Given the description of an element on the screen output the (x, y) to click on. 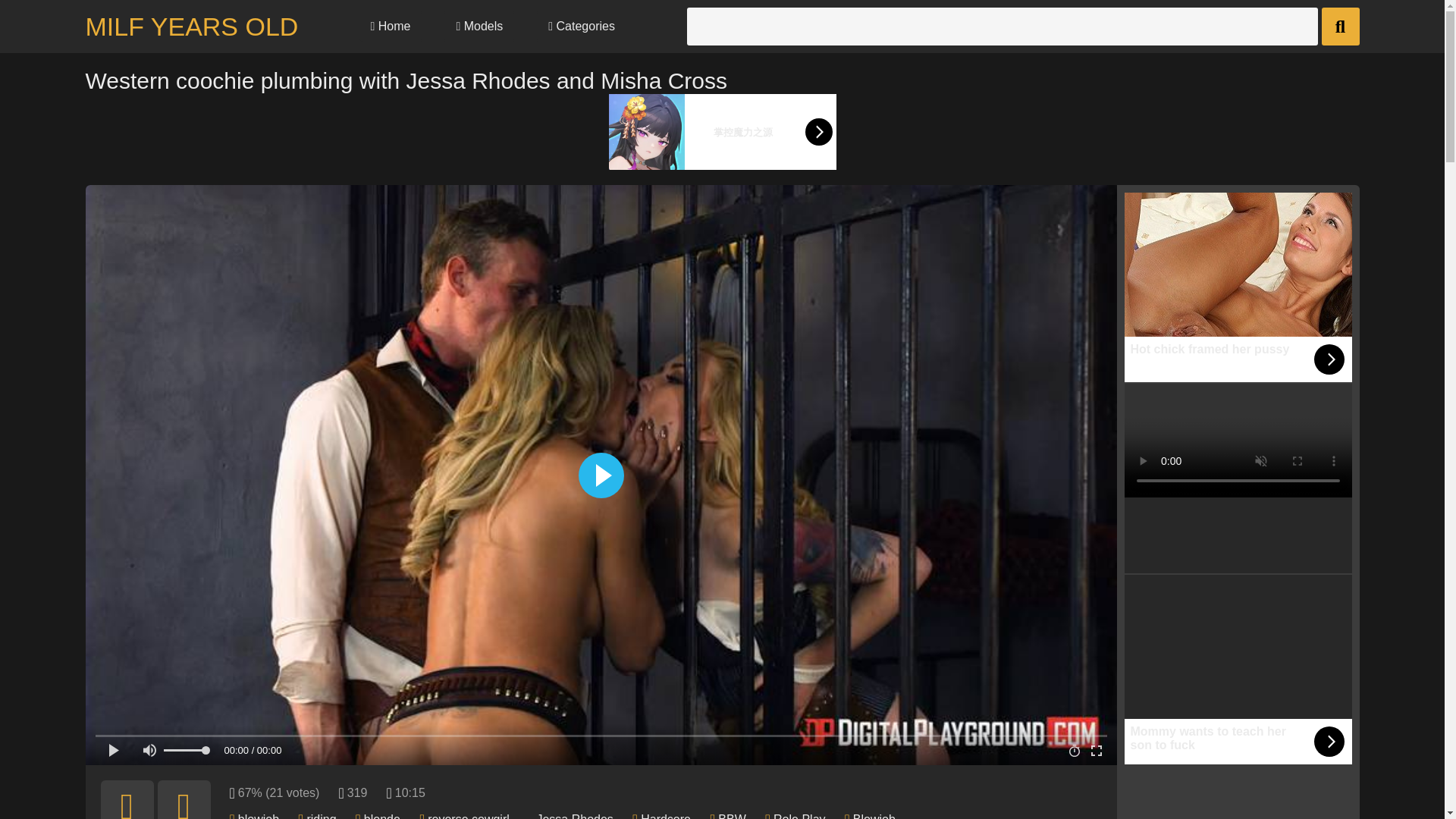
Hot chick framed her pussy (1237, 287)
Hardcore (665, 816)
blonde (382, 816)
Jessa Rhodes (573, 816)
reverse cowgirl (468, 816)
Like! (126, 799)
Mommy wants to teach her son to fuck (1237, 669)
BBW (731, 816)
MILF YEARS OLD (191, 26)
Role Play (799, 816)
